Given the description of an element on the screen output the (x, y) to click on. 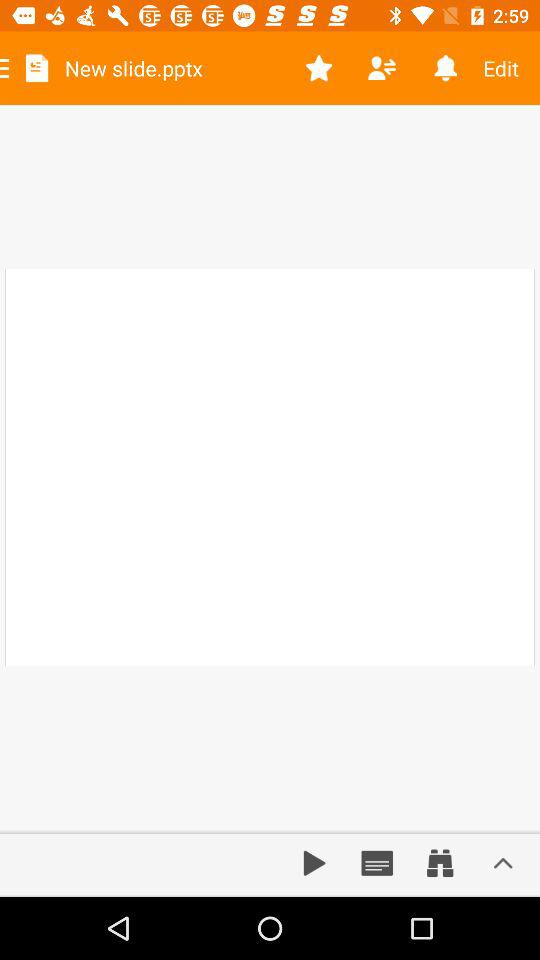
zoom (440, 863)
